Given the description of an element on the screen output the (x, y) to click on. 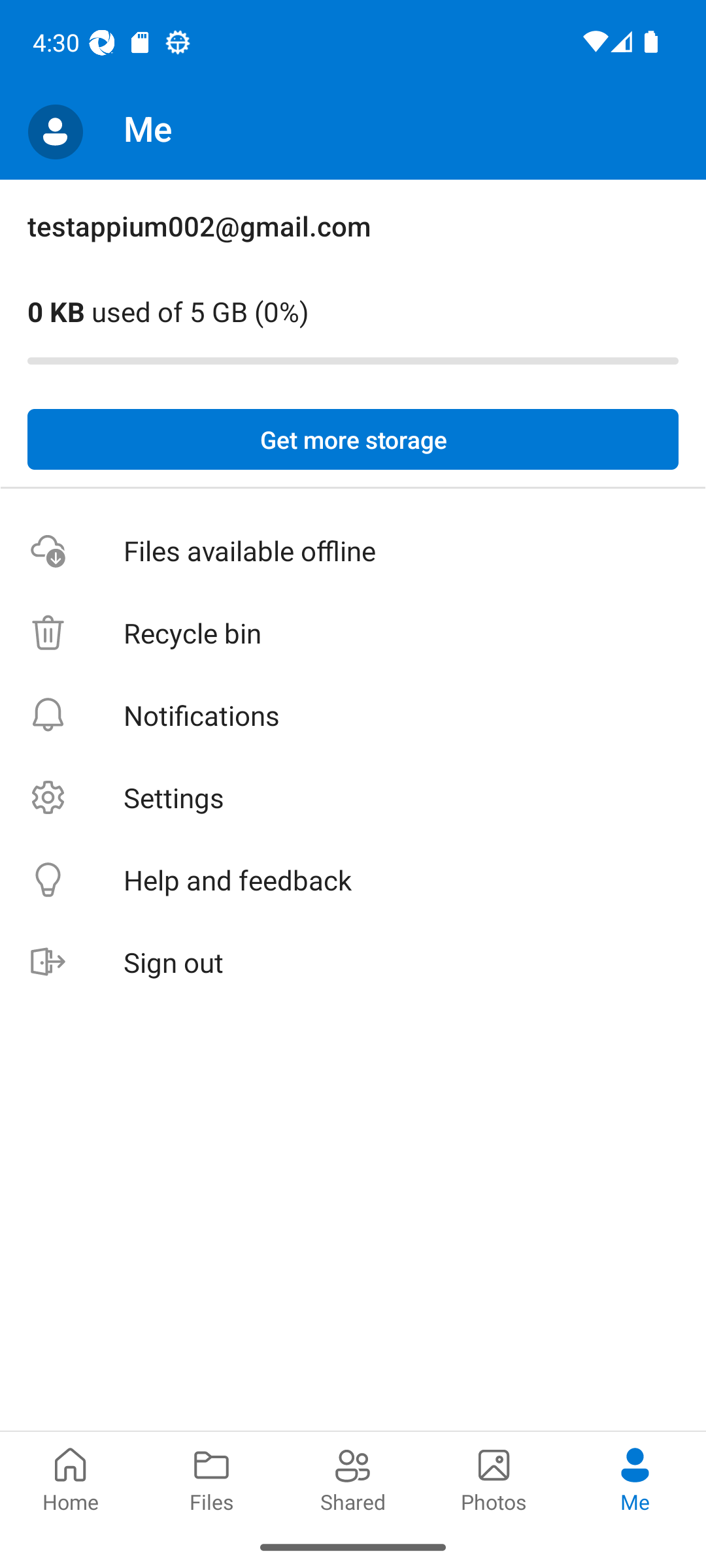
Account switcher (55, 131)
Get more storage (352, 439)
Files available offline (353, 550)
Recycle bin (353, 633)
Notifications (353, 714)
Settings (353, 796)
Help and feedback (353, 879)
Sign out (353, 962)
Home pivot Home (70, 1478)
Files pivot Files (211, 1478)
Shared pivot Shared (352, 1478)
Photos pivot Photos (493, 1478)
